Given the description of an element on the screen output the (x, y) to click on. 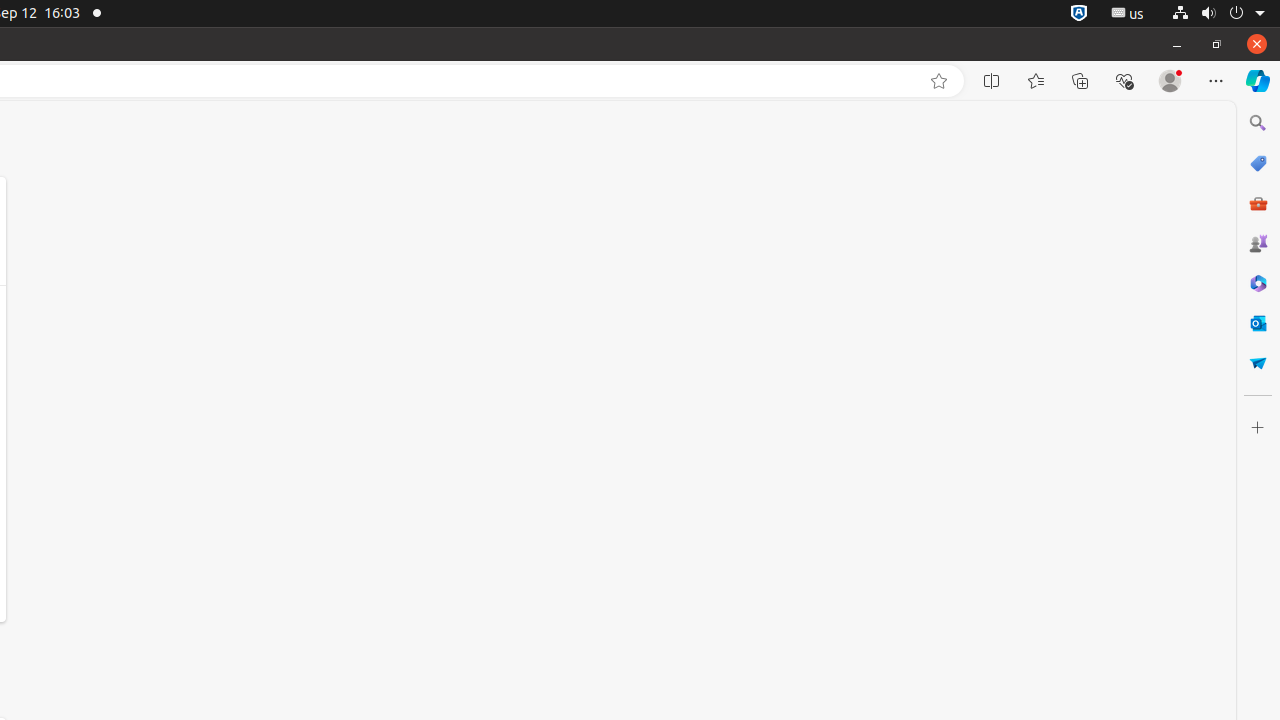
Outlook Element type: push-button (1258, 323)
Search Element type: push-button (1258, 123)
Microsoft Shopping Element type: push-button (1258, 163)
:1.21/StatusNotifierItem Element type: menu (1127, 13)
Copilot (Ctrl+Shift+.) Element type: push-button (1258, 81)
